Given the description of an element on the screen output the (x, y) to click on. 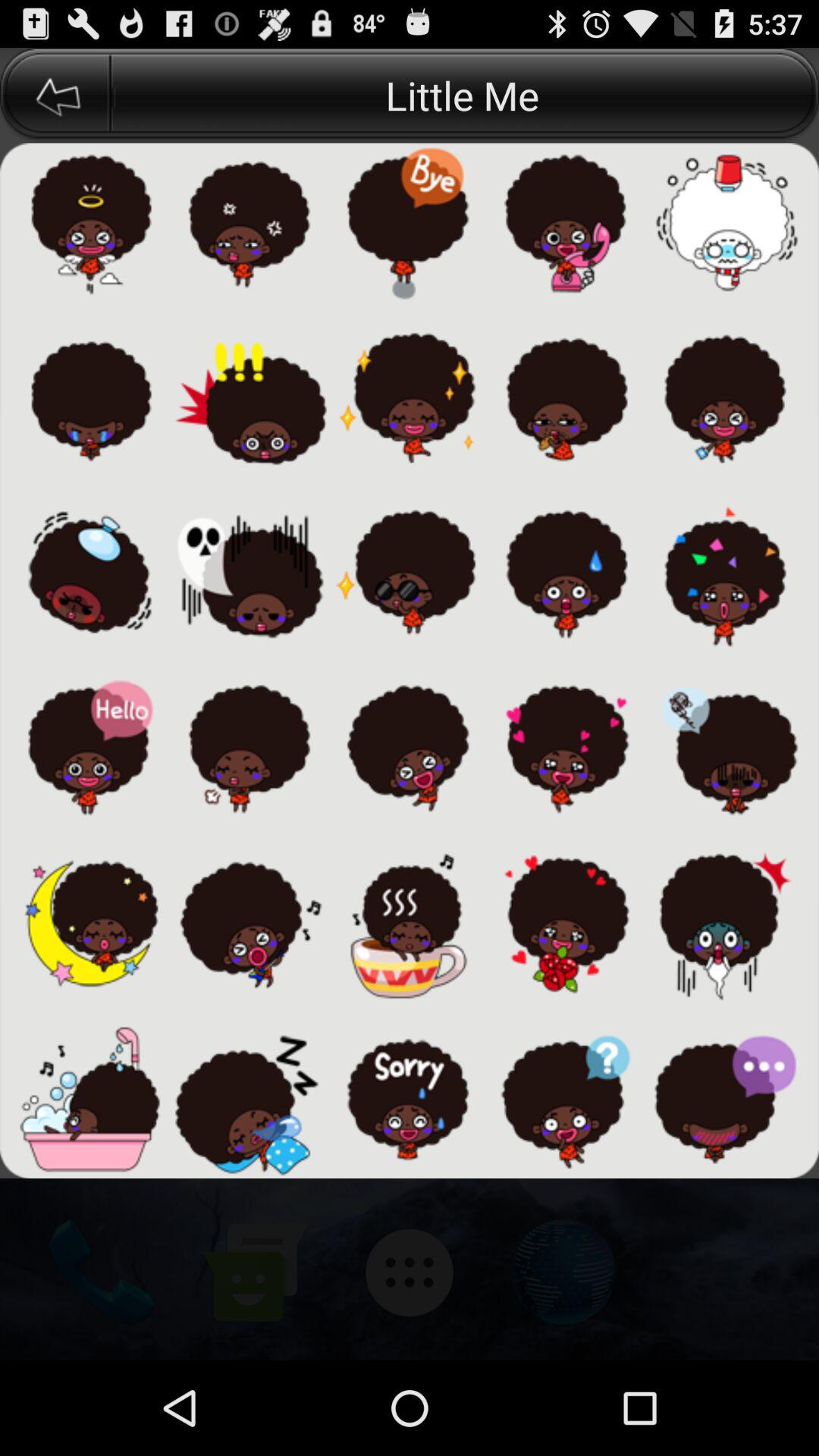
choose the icon next to the little me (55, 95)
